Given the description of an element on the screen output the (x, y) to click on. 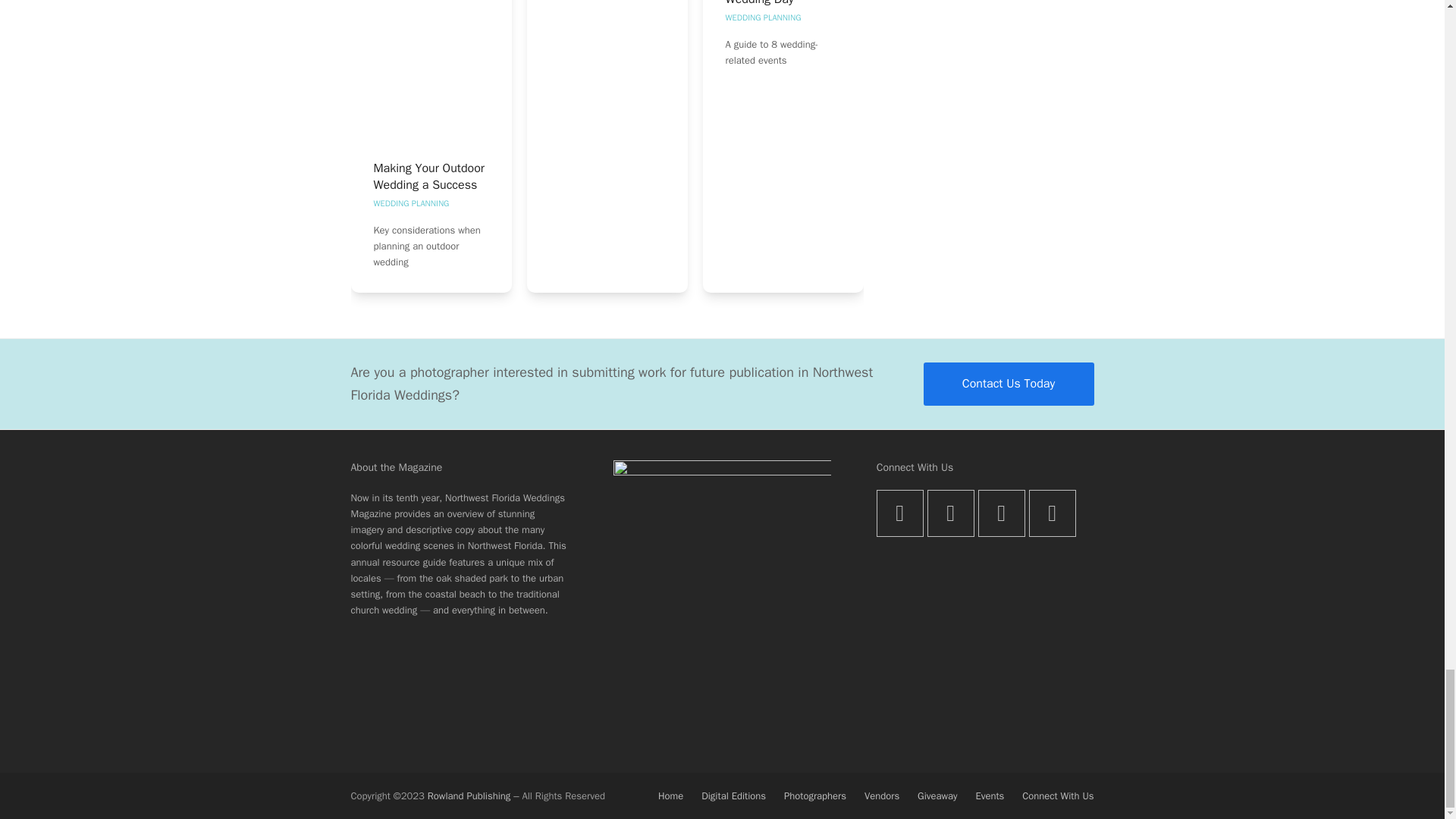
Instagram (1001, 513)
Facebook (950, 513)
Twitter (899, 513)
Making Your Outdoor Wedding a Success (427, 176)
WEDDING PLANNING (410, 203)
Pinterest (1052, 513)
